Given the description of an element on the screen output the (x, y) to click on. 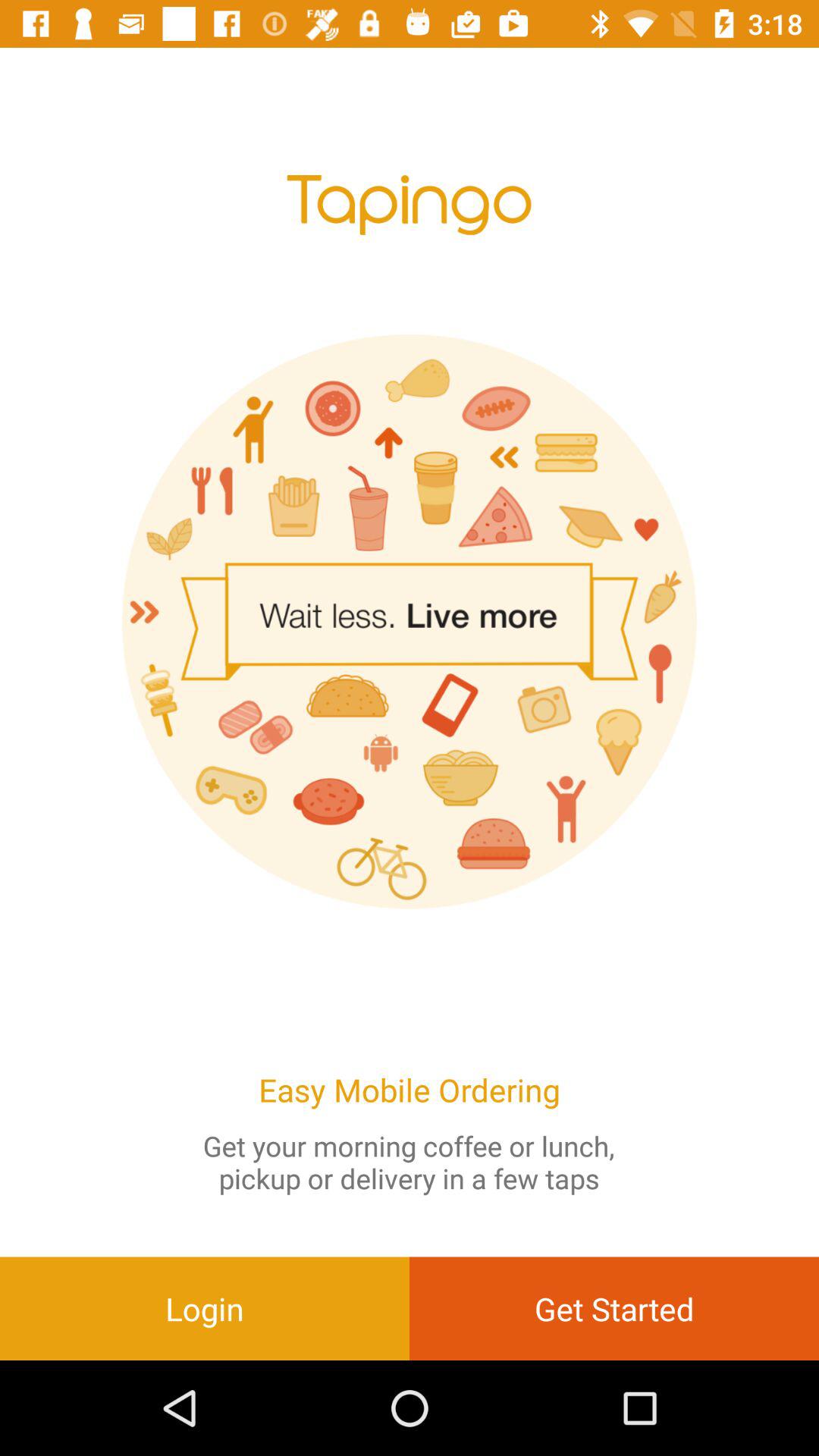
select login icon (204, 1308)
